Given the description of an element on the screen output the (x, y) to click on. 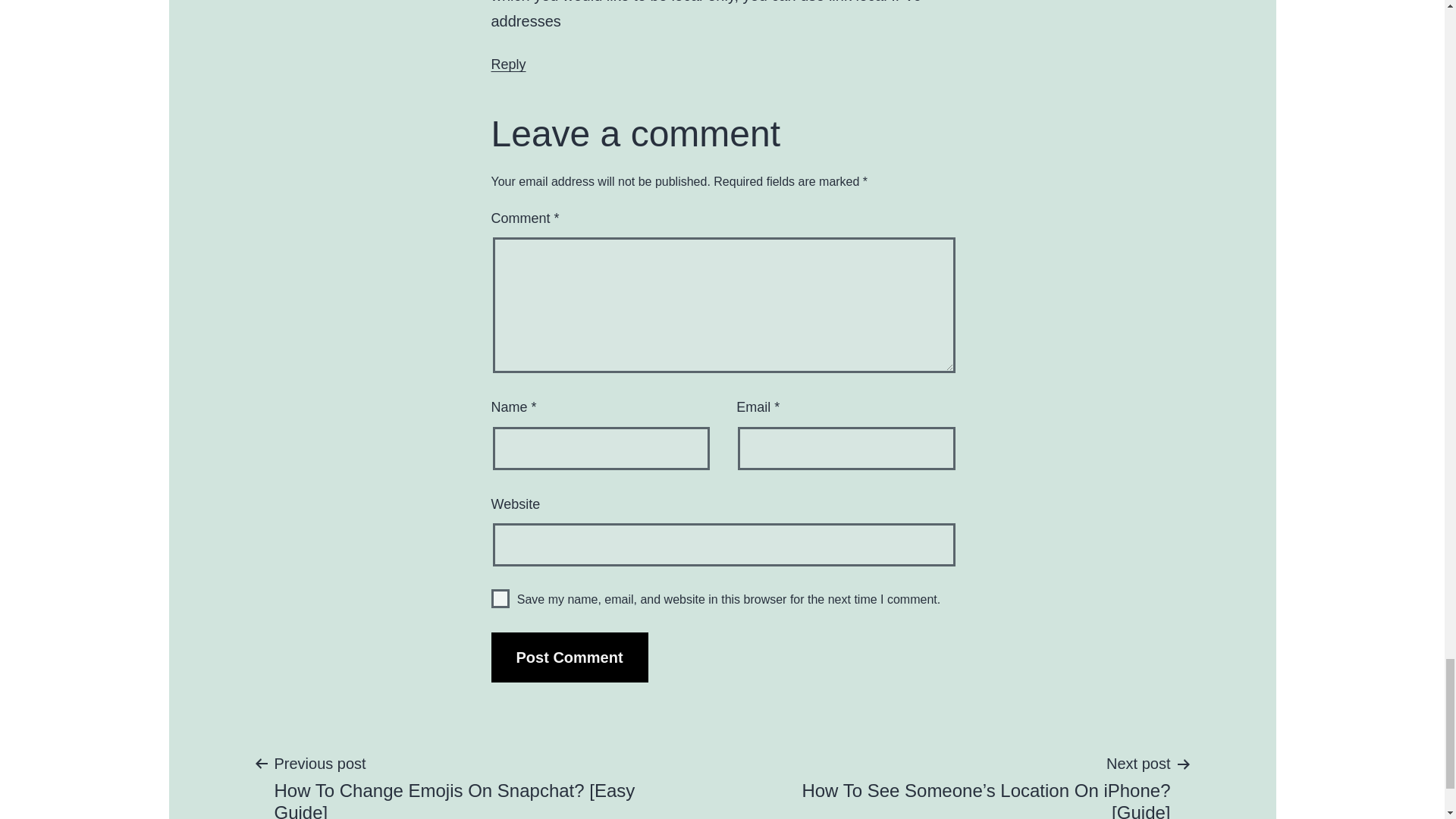
Post Comment (569, 657)
yes (500, 598)
